Given the description of an element on the screen output the (x, y) to click on. 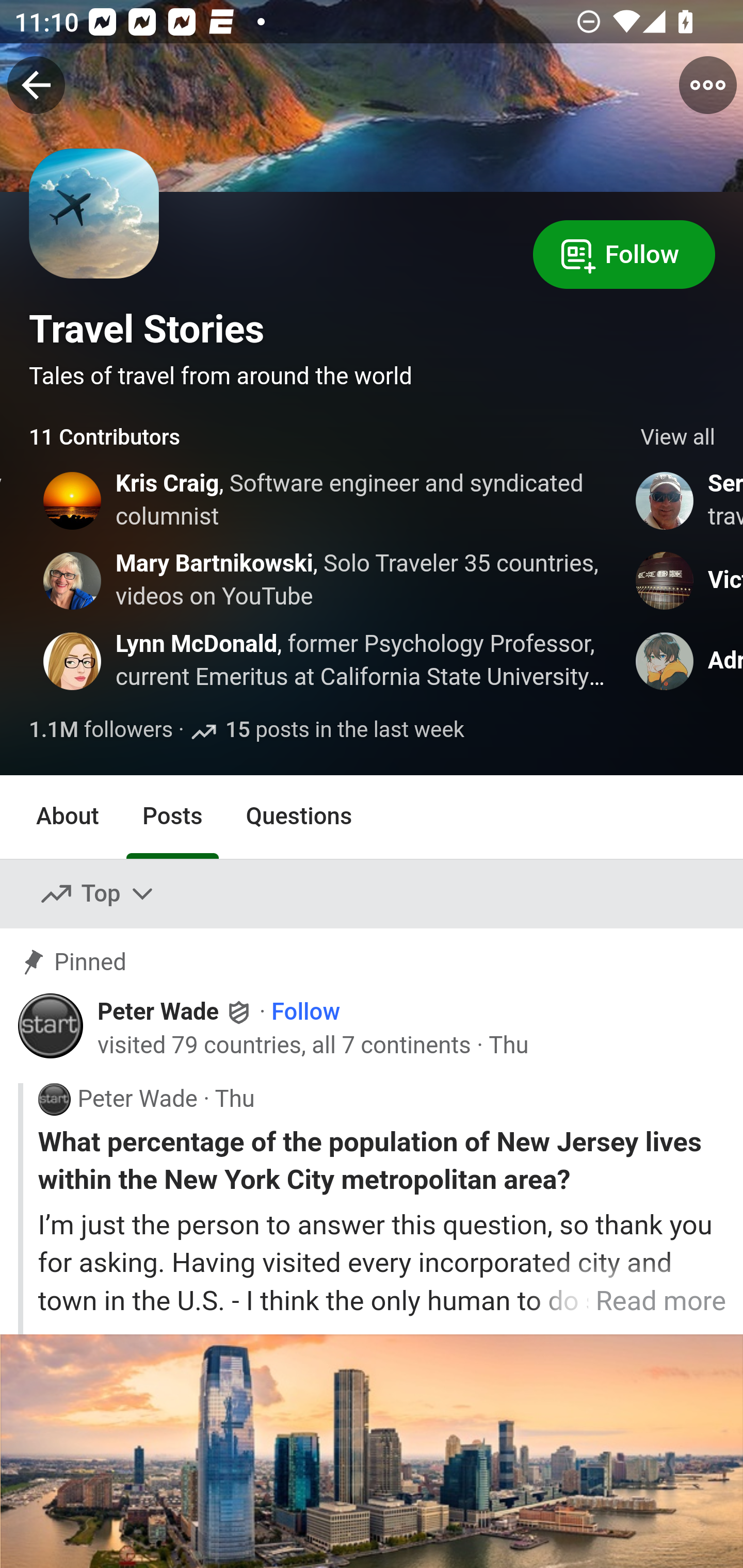
Follow (623, 252)
Travel Stories (146, 329)
View all (677, 437)
Kris Craig (167, 484)
Profile photo for Kris Craig (72, 499)
Profile photo for Sergio Diniz (665, 499)
Mary Bartnikowski (214, 564)
Profile photo for Mary Bartnikowski (72, 579)
Profile photo for Victoria Ng (665, 579)
Lynn McDonald (196, 643)
Profile photo for Lynn McDonald (72, 661)
Profile photo for Adrien Froster (665, 661)
1.1M followers (101, 731)
About (68, 816)
Posts (171, 816)
Questions (299, 816)
Top (97, 894)
Profile photo for Peter Wade (50, 1025)
Peter Wade Peter Wade   (175, 1010)
Follow (306, 1011)
Profile photo for Peter Wade (54, 1098)
